Given the description of an element on the screen output the (x, y) to click on. 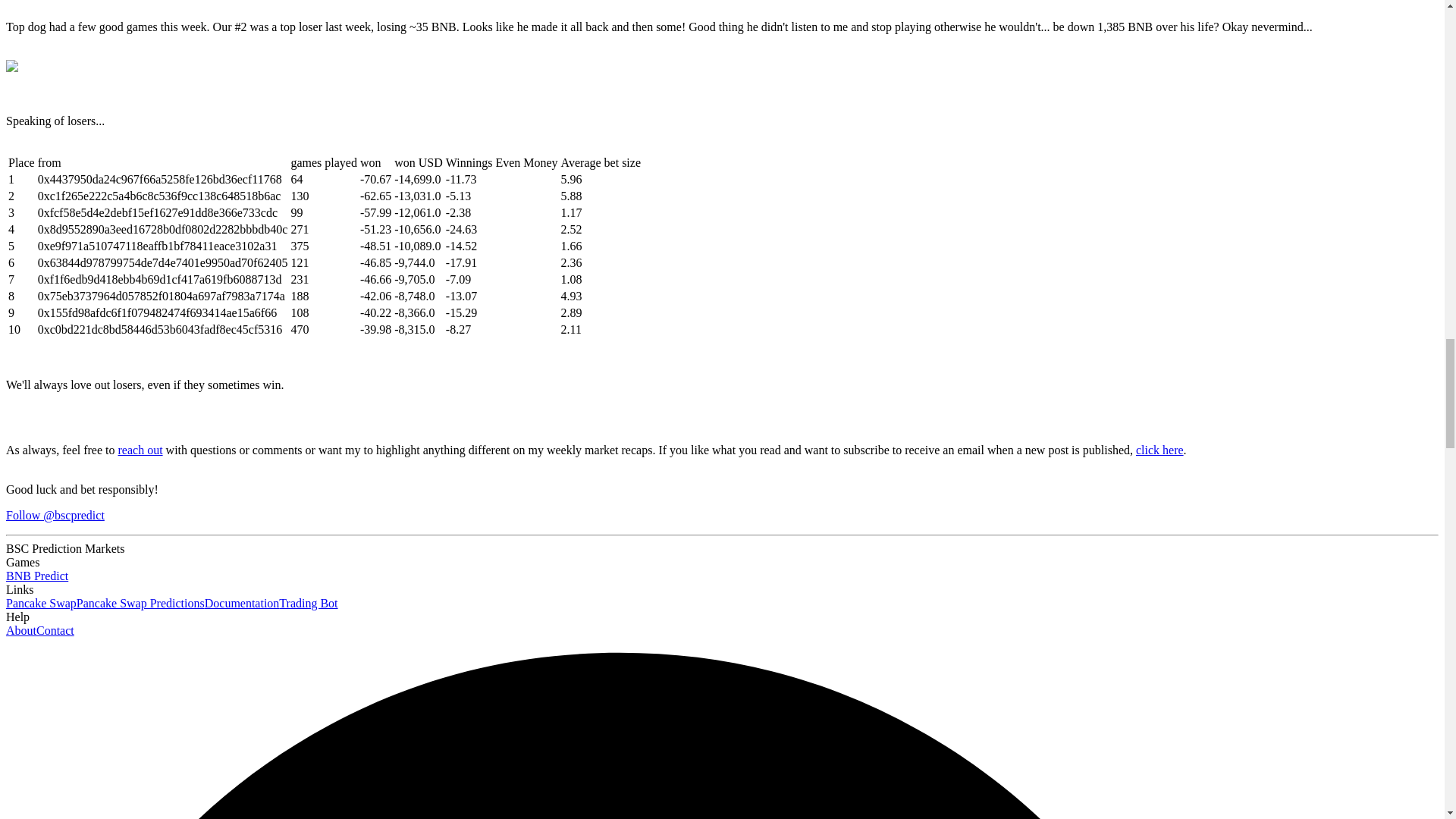
Trading Bot (308, 603)
About (20, 630)
Contact (55, 630)
BNB Predict (36, 575)
Documentation (242, 603)
Pancake Swap Predictions (141, 603)
reach out (140, 449)
click here (1159, 449)
Pancake Swap (41, 603)
